Given the description of an element on the screen output the (x, y) to click on. 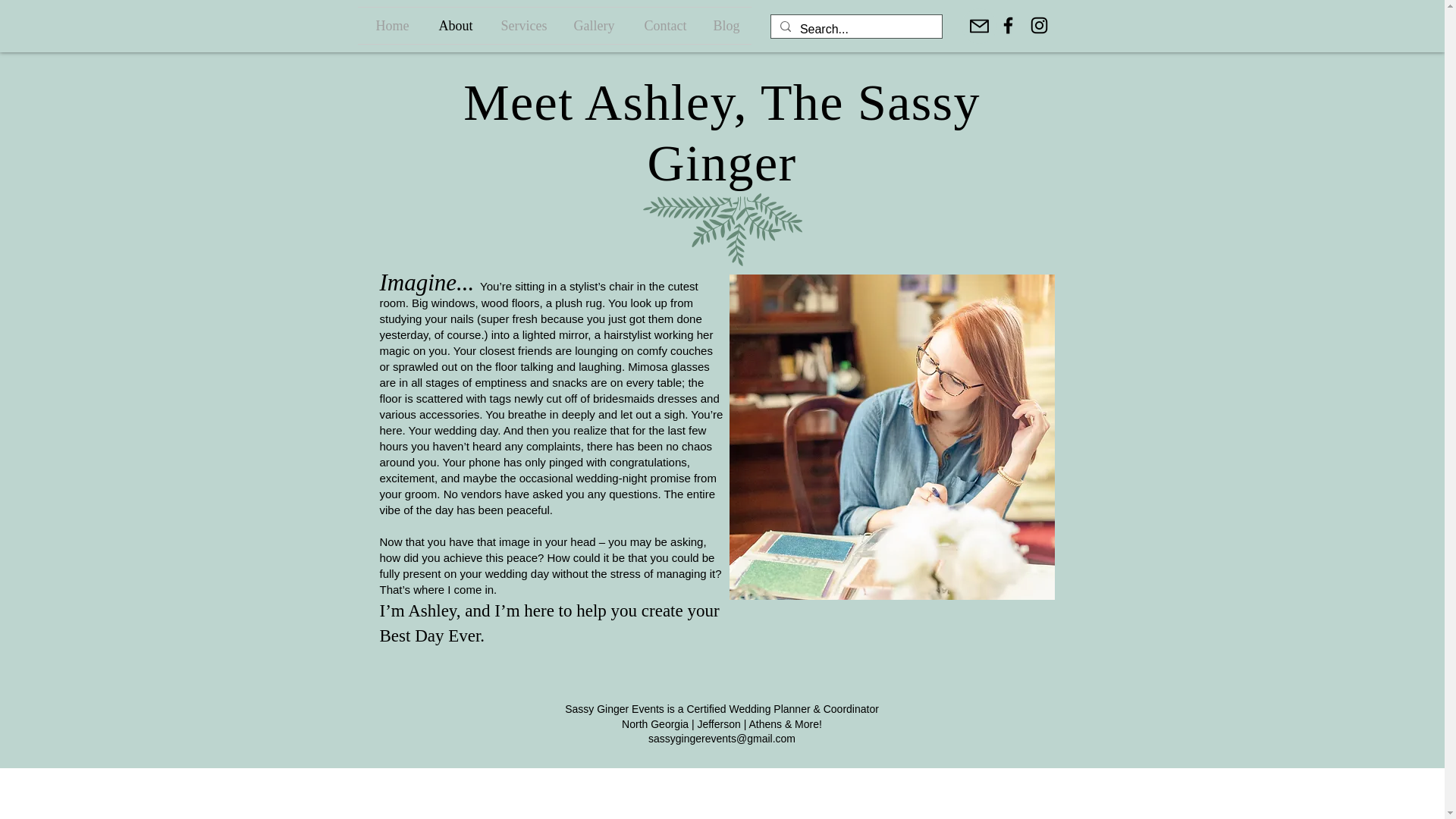
Blog (724, 25)
Services (520, 25)
About (451, 25)
Home (389, 25)
Gallery (591, 25)
Contact (662, 25)
